Given the description of an element on the screen output the (x, y) to click on. 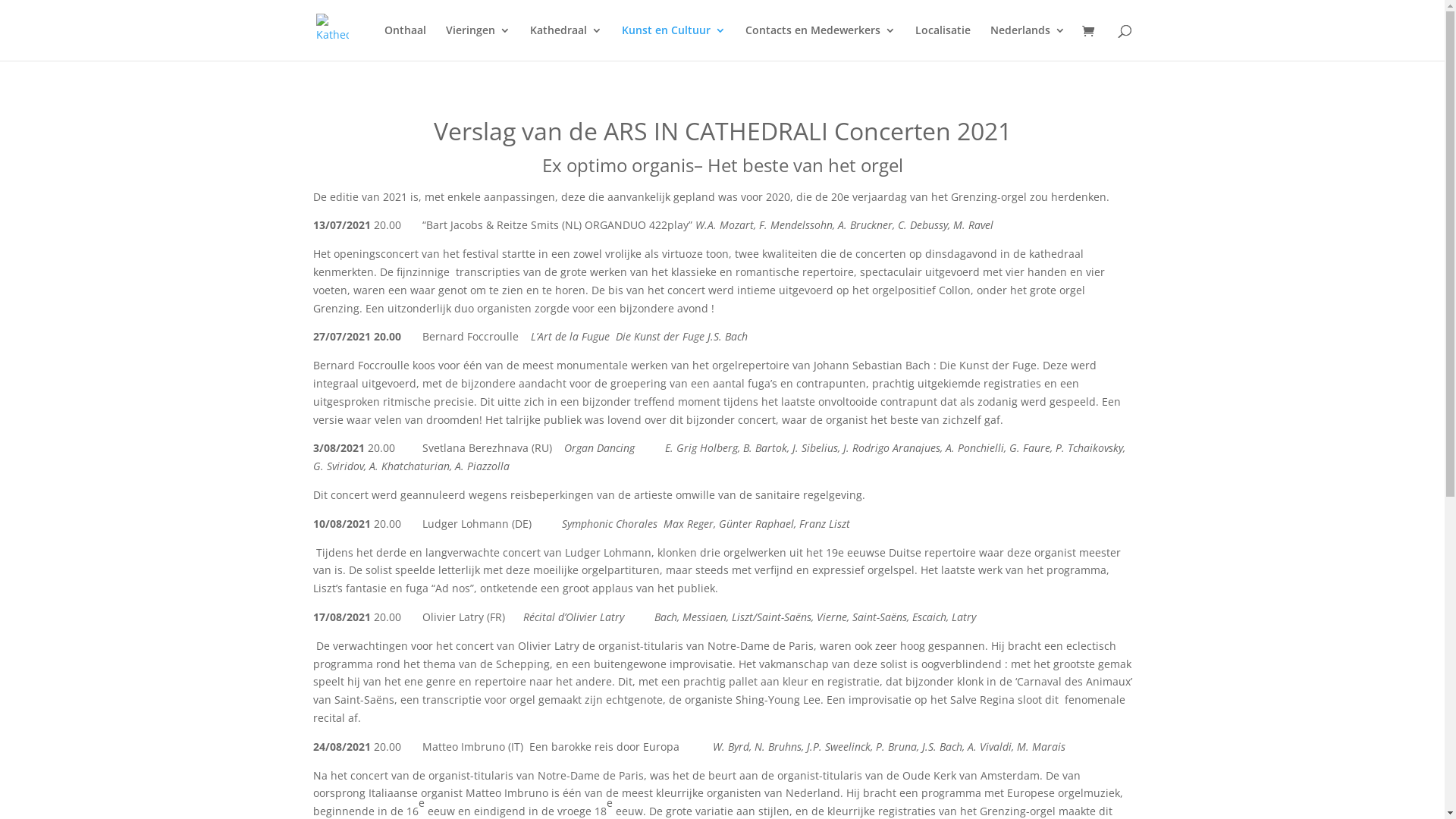
Localisatie Element type: text (941, 42)
Onthaal Element type: text (404, 42)
Nederlands Element type: text (1027, 42)
Contacts en Medewerkers Element type: text (819, 42)
Kathedraal Element type: text (565, 42)
Vieringen Element type: text (477, 42)
Kunst en Cultuur Element type: text (673, 42)
